Given the description of an element on the screen output the (x, y) to click on. 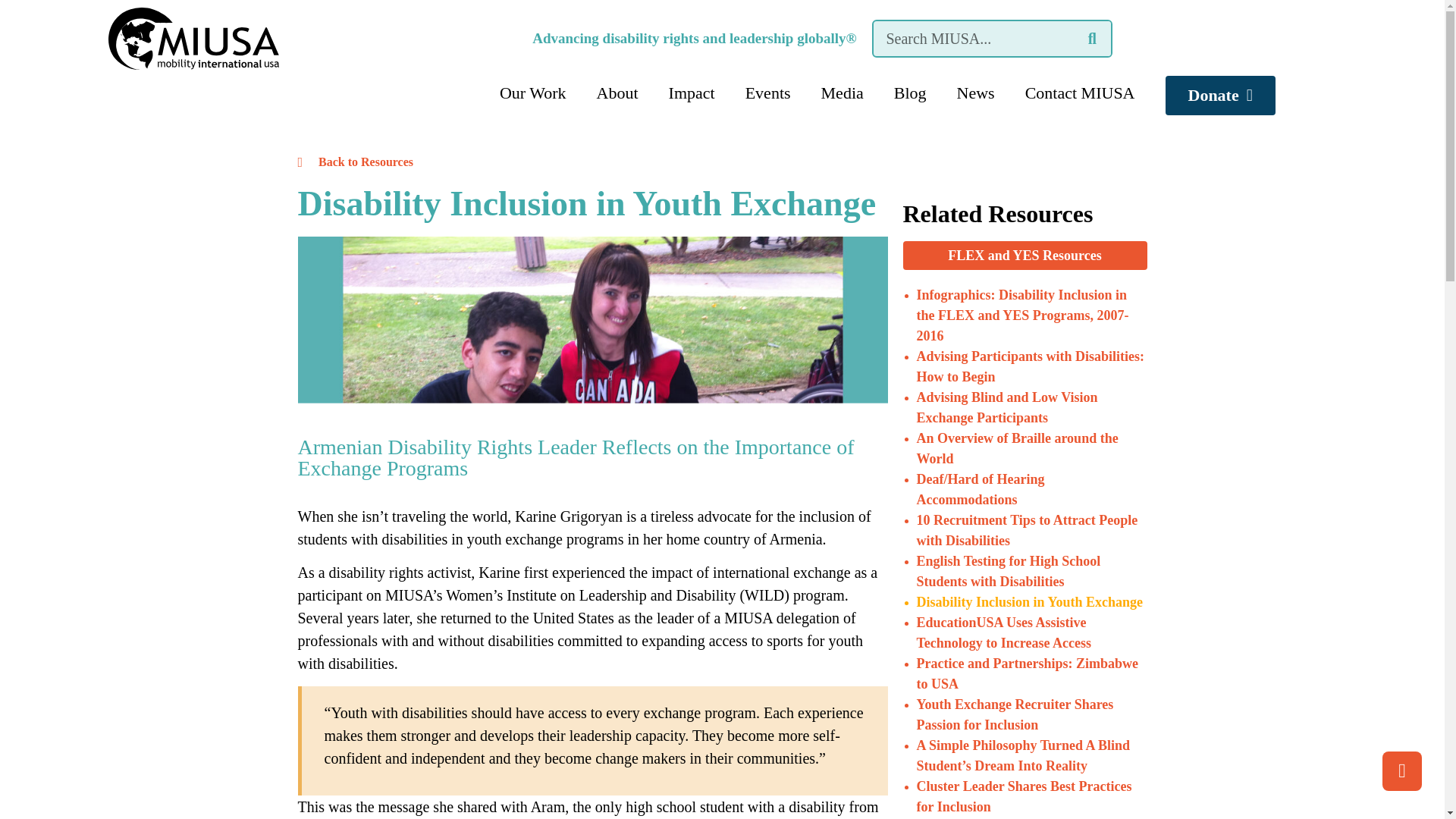
Donate (1219, 95)
About (616, 93)
Contact MIUSA (1080, 93)
News (976, 93)
Media (842, 93)
Events (768, 93)
Back to Resources (591, 162)
Impact (691, 93)
Blog (910, 93)
Our Work (532, 93)
